Given the description of an element on the screen output the (x, y) to click on. 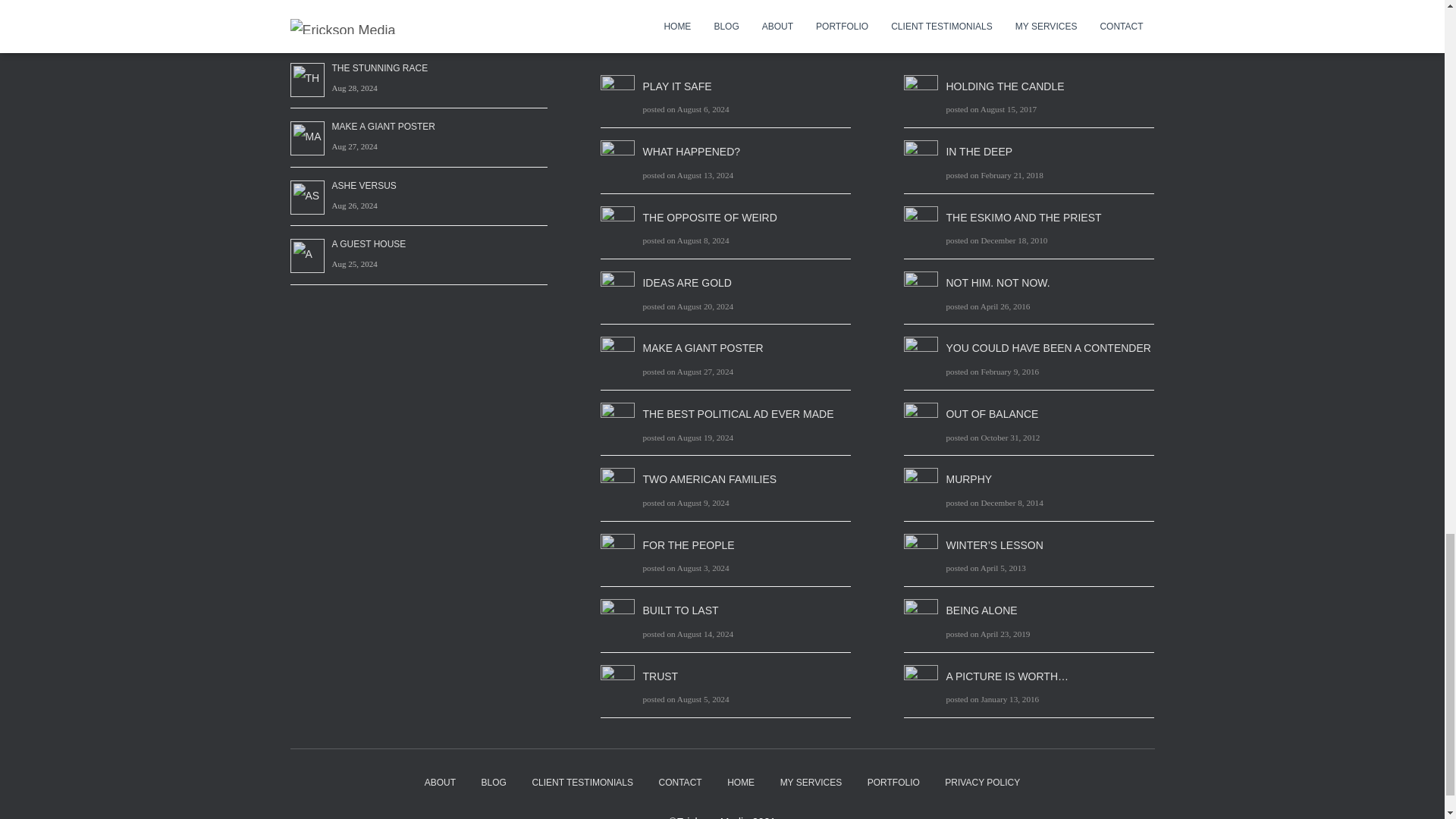
ASHE VERSUS (363, 185)
THE OPPOSITE OF WEIRD (709, 217)
A GUEST HOUSE (368, 244)
MAKE A GIANT POSTER (702, 347)
THE STUNNING RACE (379, 67)
THE BEST POLITICAL AD EVER MADE (737, 414)
PLAY IT SAFE (676, 86)
TWO AMERICAN FAMILIES (709, 478)
WHAT HAPPENED? (690, 151)
THE PARENTS OF PARIS (385, 9)
